Given the description of an element on the screen output the (x, y) to click on. 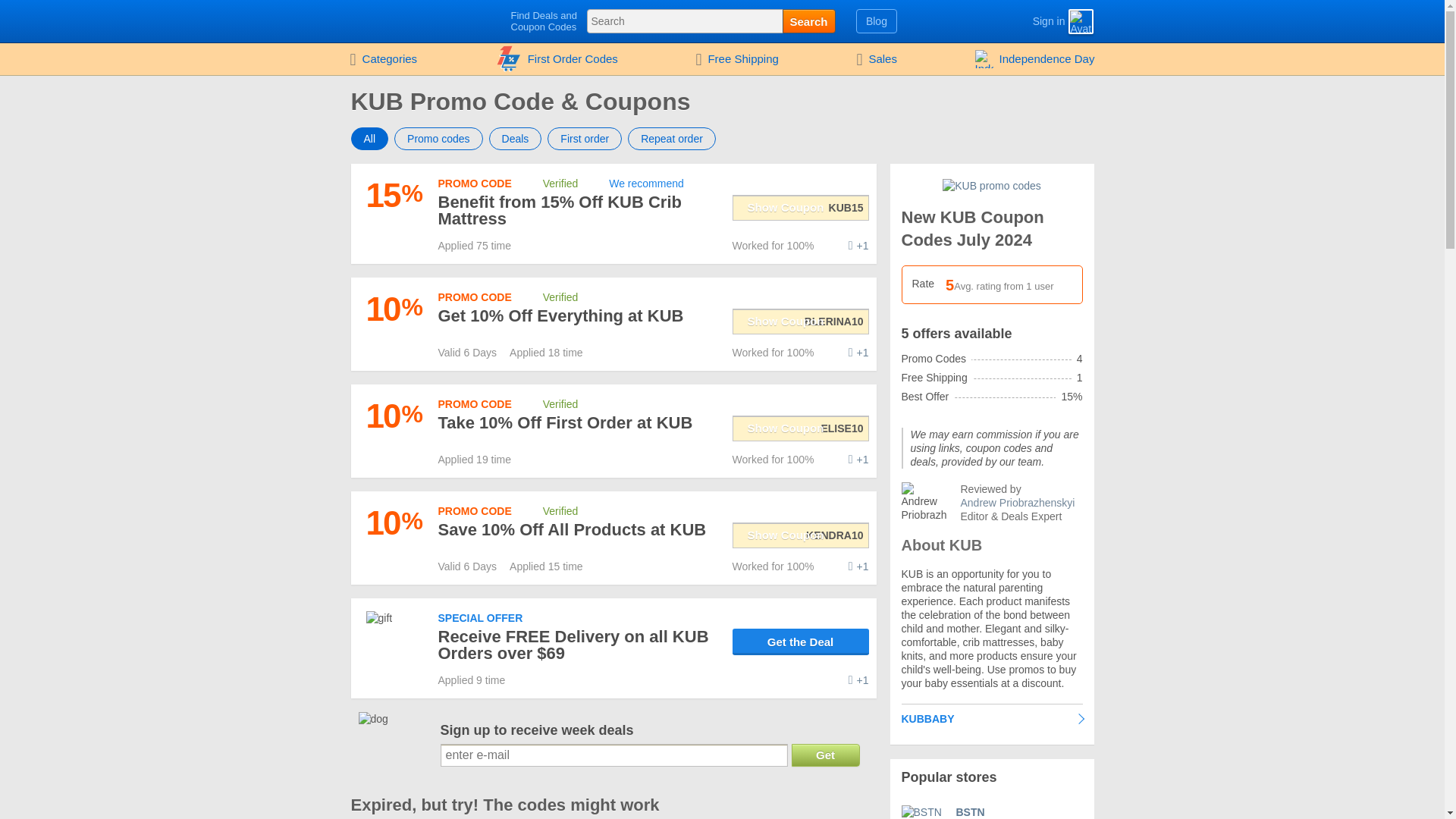
Show Coupon (800, 427)
Leave your comment  (858, 352)
Sales (876, 59)
Show Coupon (800, 320)
Get the Deal (800, 641)
Sign in (1036, 21)
Categories (382, 59)
Independence Day (1034, 59)
Leave your comment  (858, 680)
Leave your comment  (858, 566)
Show Coupon (800, 320)
Free Shipping (736, 59)
Show Coupon (800, 207)
Show Coupon (800, 534)
Show Coupon (800, 427)
